Given the description of an element on the screen output the (x, y) to click on. 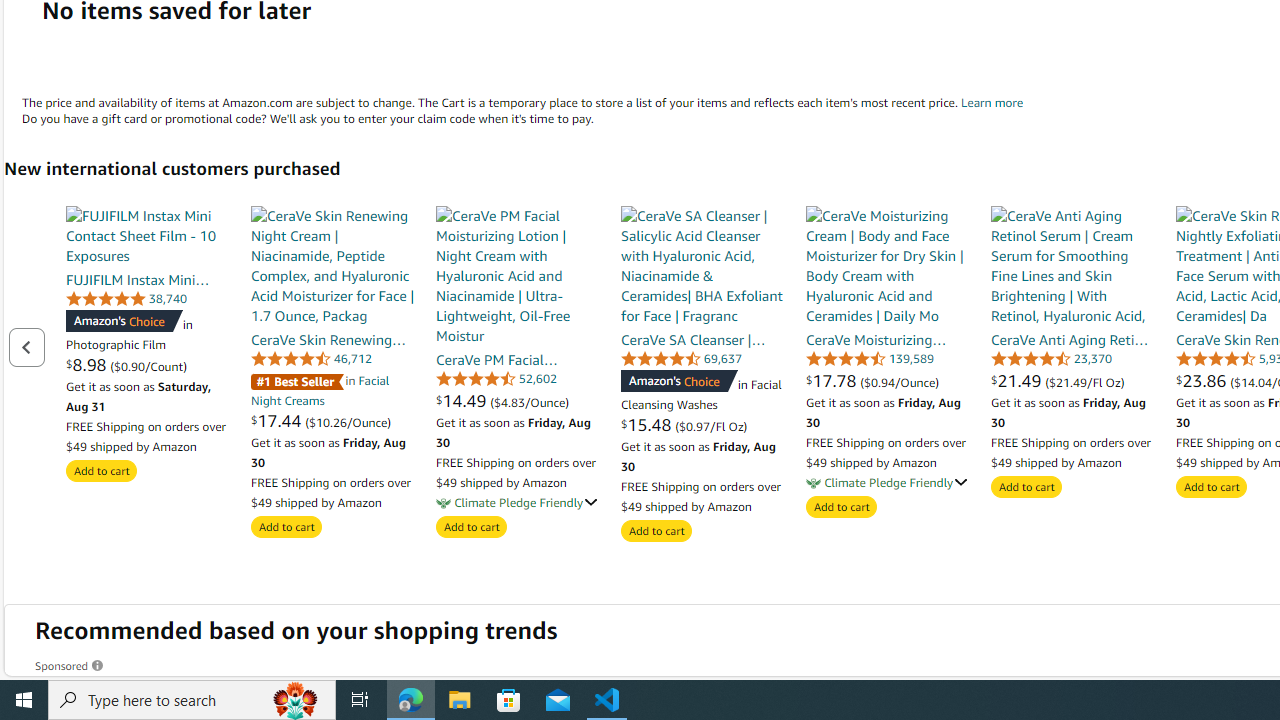
($0.97/Fl Oz) (710, 425)
($10.26/Ounce) (347, 421)
Class: a-link-normal a-text-normal (1072, 379)
$23.86  (1203, 379)
Add to cart (1211, 487)
($21.49/Fl Oz) (1084, 381)
$15.48  (647, 424)
